Given the description of an element on the screen output the (x, y) to click on. 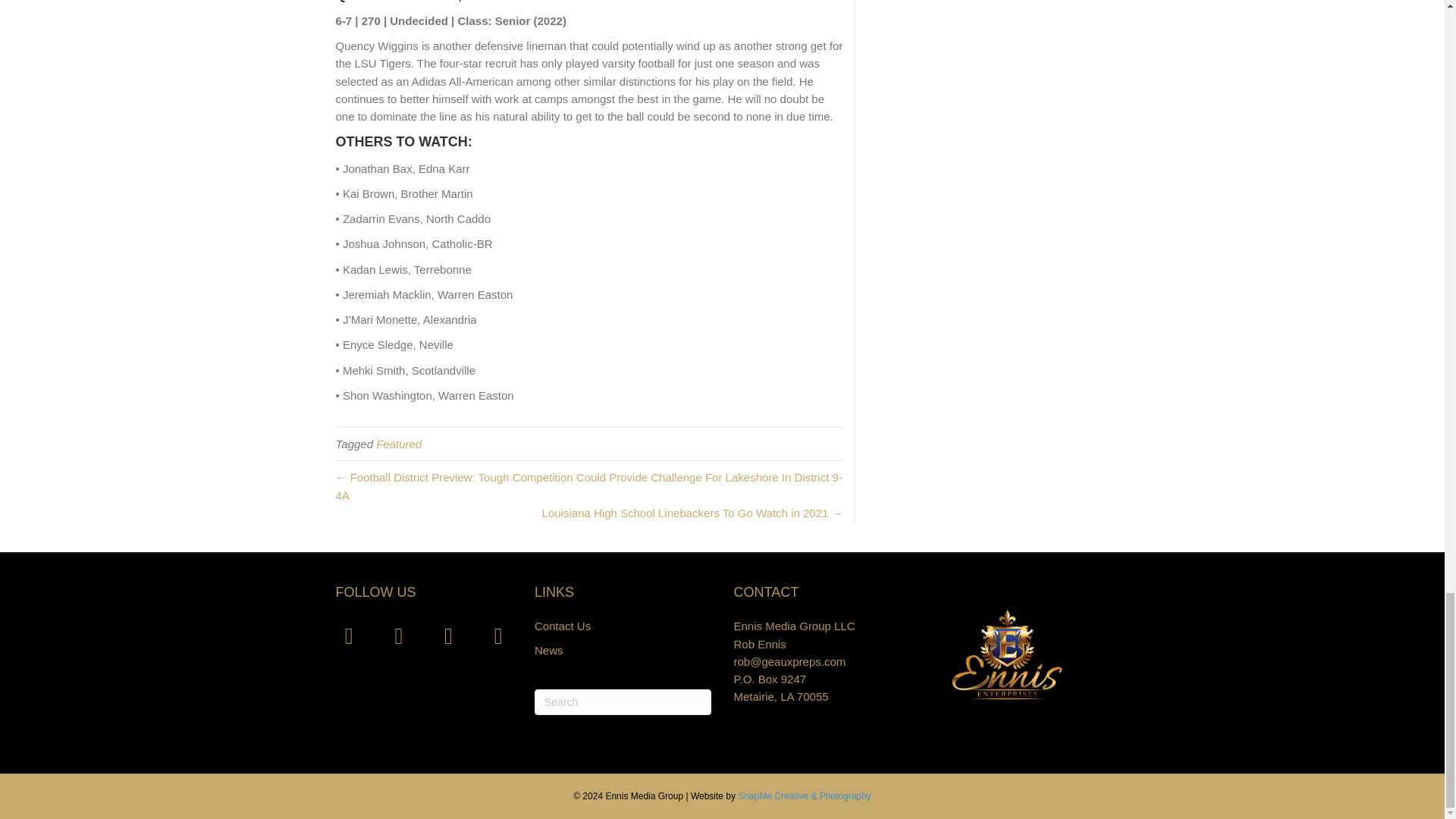
News (548, 649)
Contact Us (562, 625)
Featured (398, 443)
Type and press Enter to search. (622, 701)
